Given the description of an element on the screen output the (x, y) to click on. 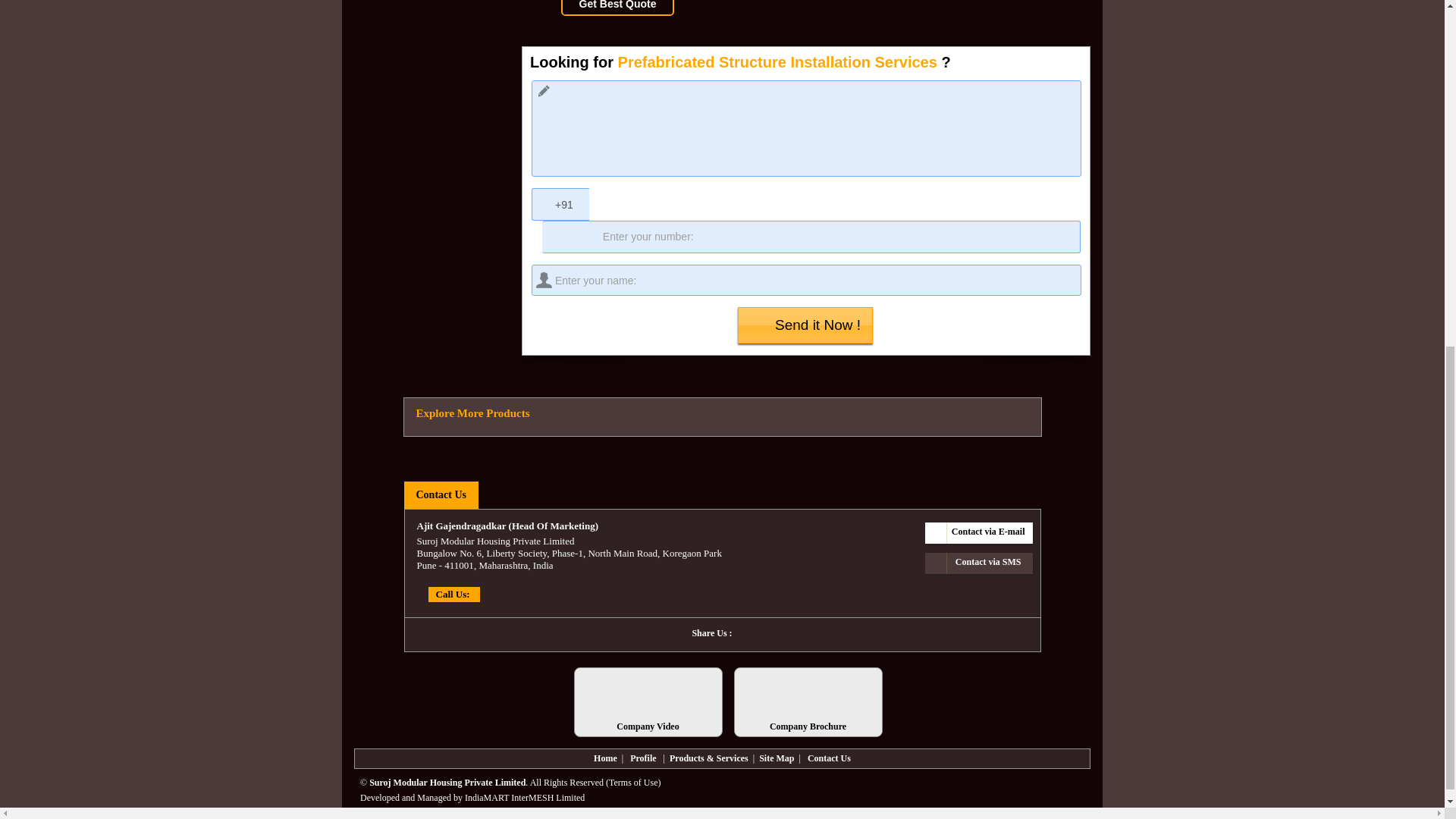
Enter your name: (806, 279)
Send it Now ! (805, 325)
Send it Now ! (805, 325)
Enter your number: (810, 236)
